Given the description of an element on the screen output the (x, y) to click on. 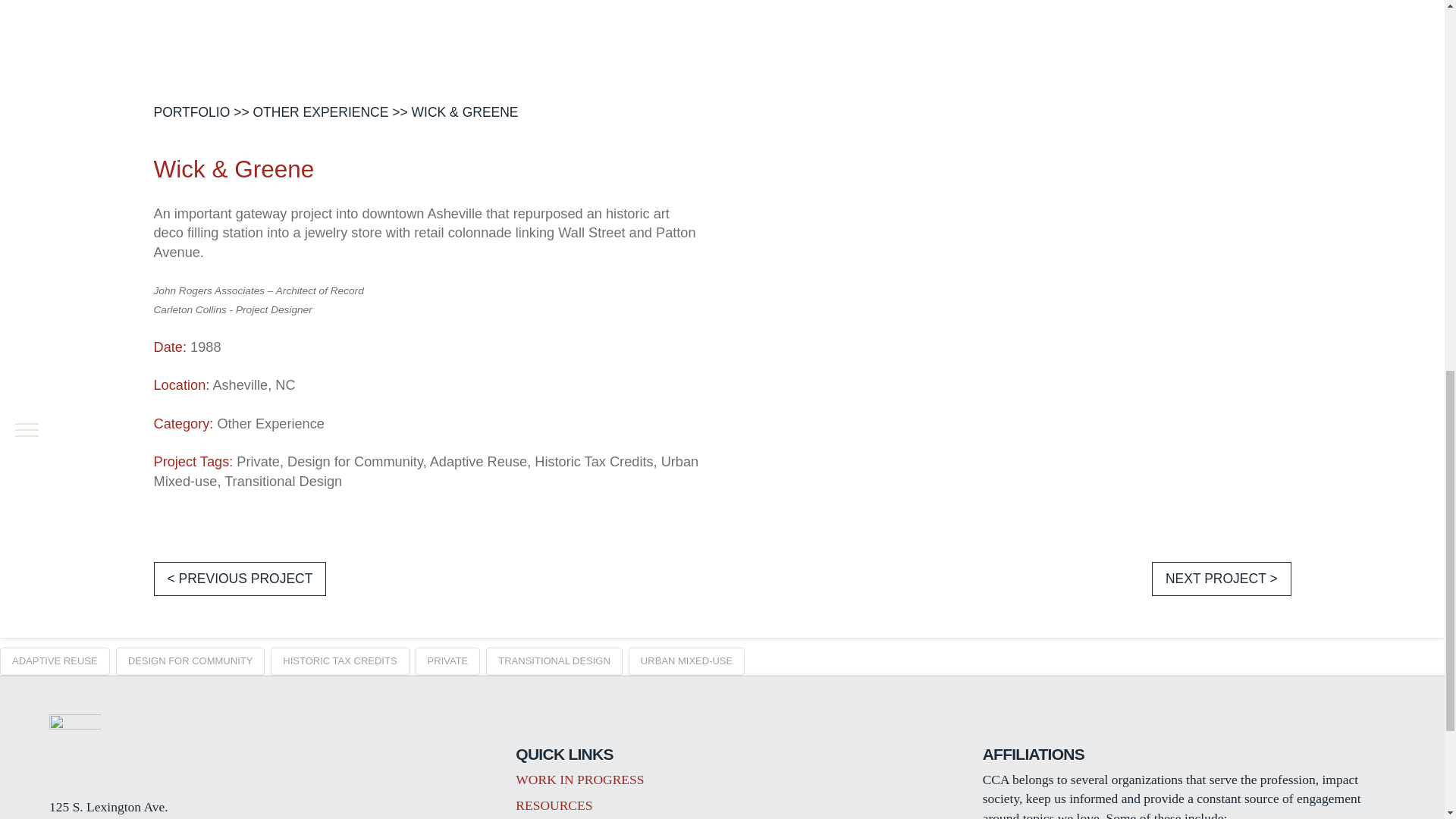
WORK IN PROGRESS (579, 779)
URBAN MIXED-USE (686, 661)
ADAPTIVE REUSE (55, 661)
DESIGN FOR COMMUNITY (190, 661)
TRANSITIONAL DESIGN (554, 661)
PRIVATE (447, 661)
HISTORIC TAX CREDITS (339, 661)
